Given the description of an element on the screen output the (x, y) to click on. 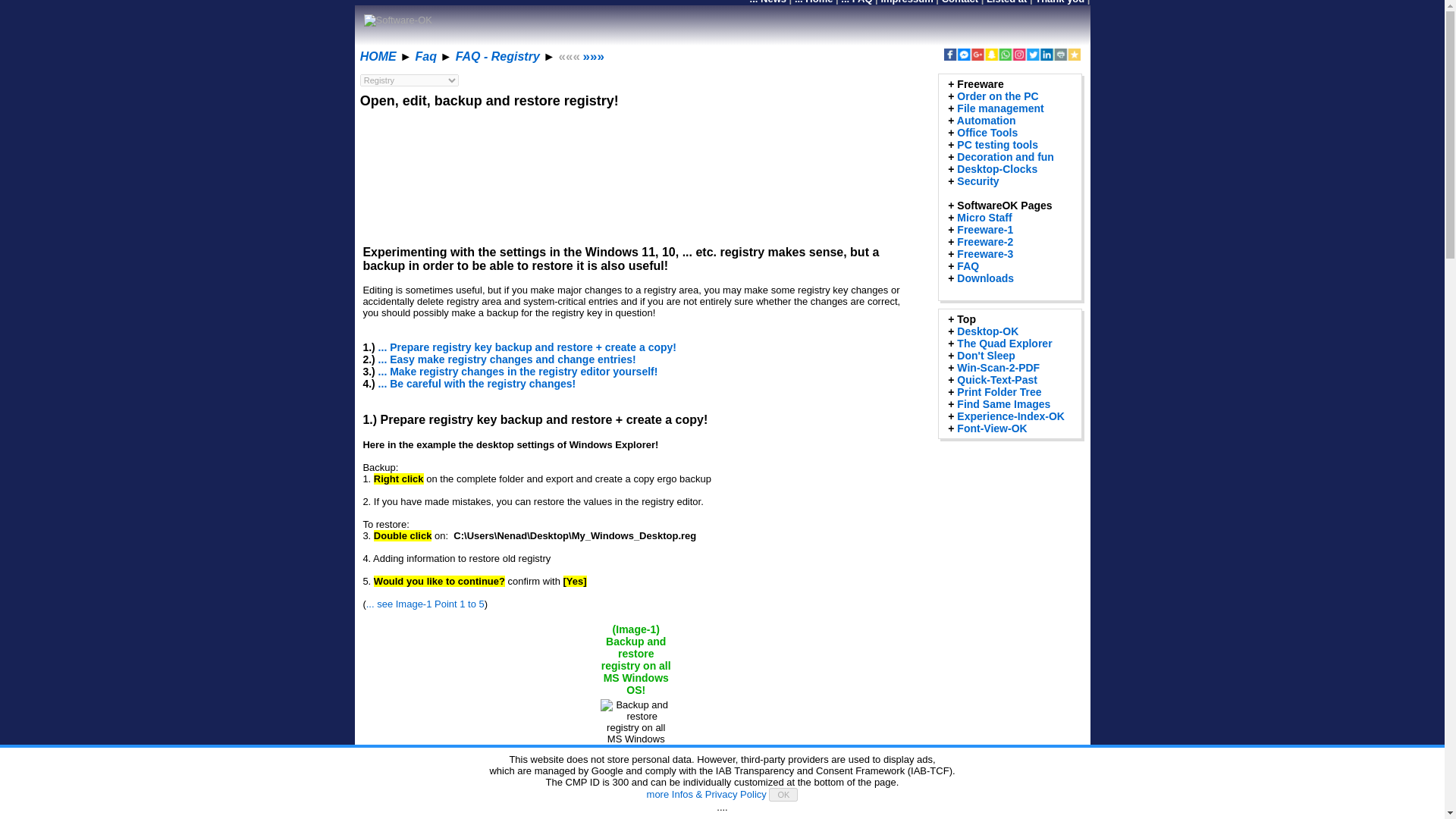
... News (767, 2)
... Easy make registry changes and change entries! (507, 358)
Listed at (1006, 2)
... FAQ (856, 2)
 OK  (782, 794)
Thank you (1059, 2)
... Make registry changes in the registry editor yourself! (518, 371)
... Home (813, 2)
FAQ - Registry (497, 56)
Impressum (906, 2)
